Given the description of an element on the screen output the (x, y) to click on. 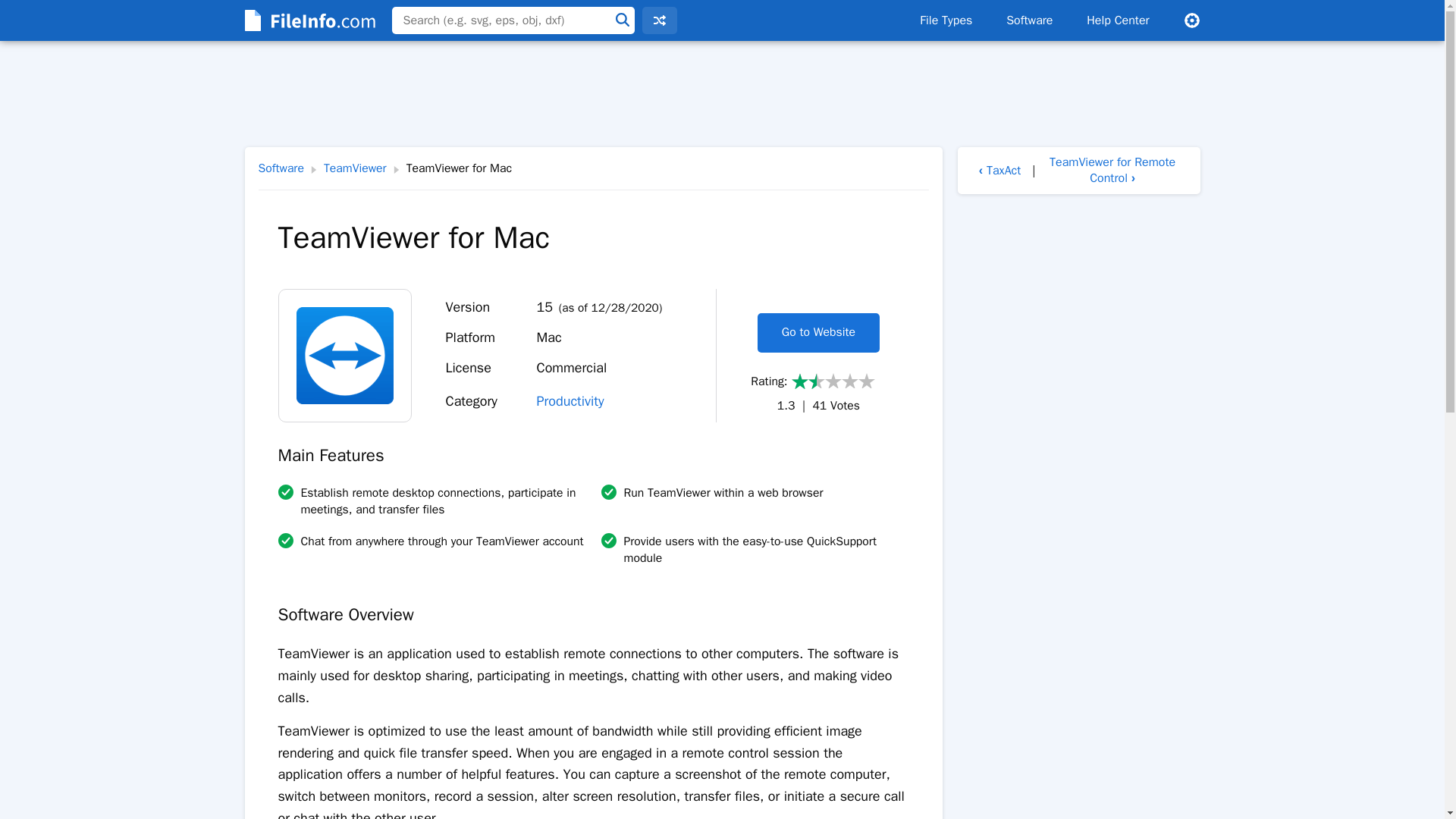
File Types (945, 20)
TeamViewer (355, 168)
Random (659, 20)
Go to Website (818, 332)
TeamViewer TeamViewer for Mac Icon (344, 355)
3rd party ad content (721, 93)
Help Center (1117, 20)
Productivity (570, 401)
FileInfo (307, 20)
Settings (1190, 20)
